Given the description of an element on the screen output the (x, y) to click on. 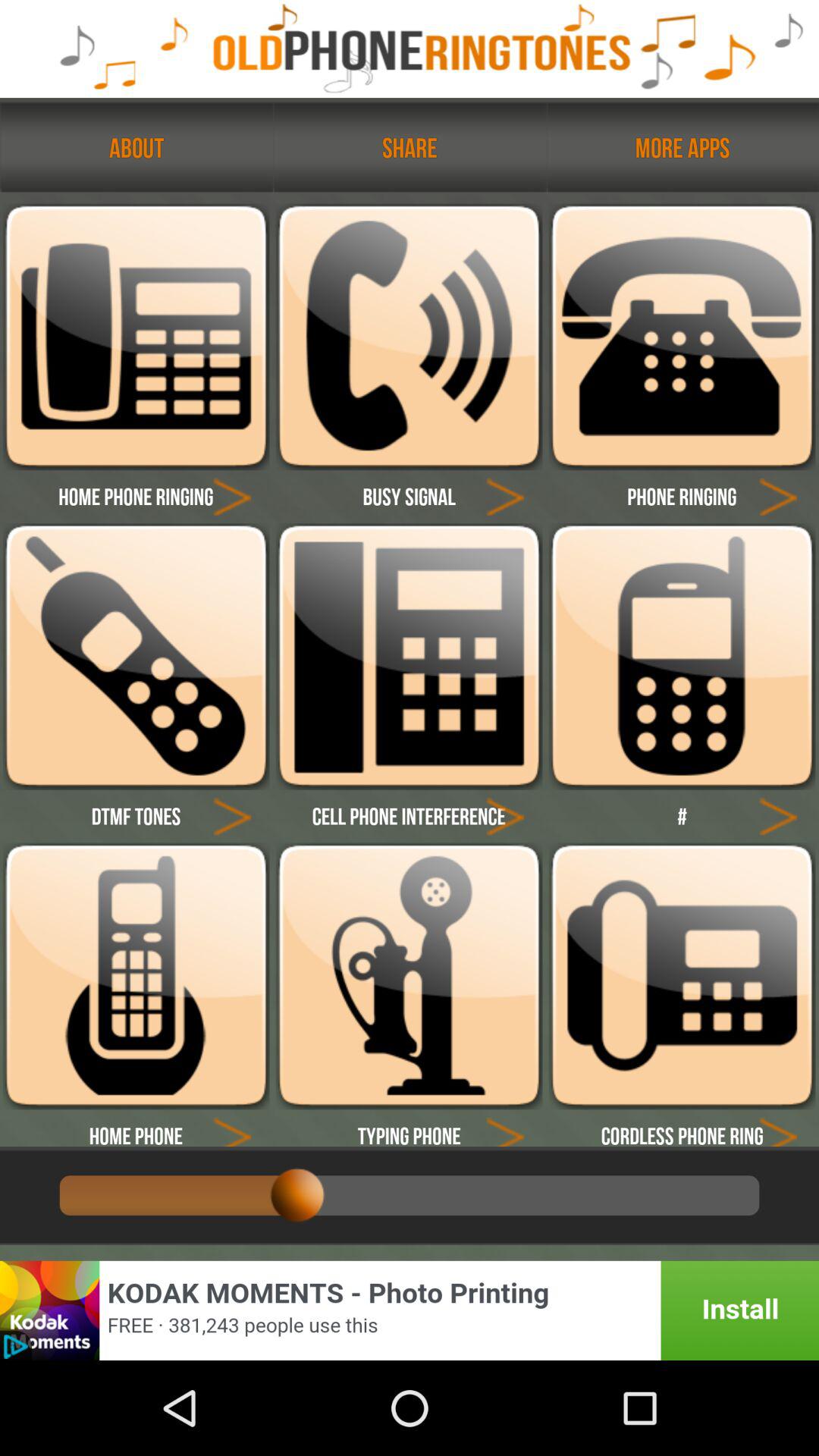
go back (232, 815)
